Given the description of an element on the screen output the (x, y) to click on. 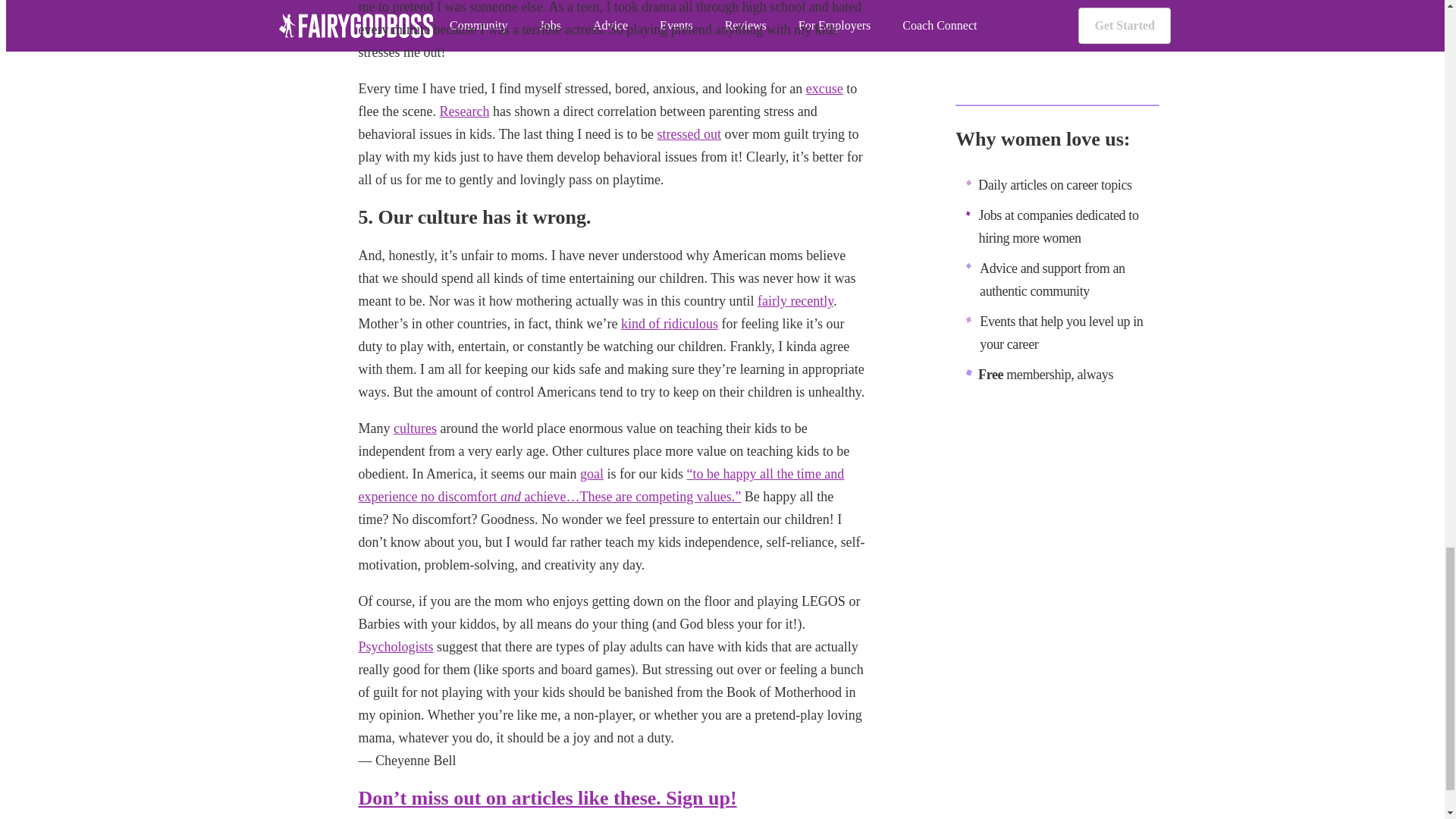
stressed out (690, 133)
cultures (414, 427)
fairly recently (794, 300)
excuse (824, 88)
kind of ridiculous (669, 323)
goal (591, 473)
Research (464, 111)
